Given the description of an element on the screen output the (x, y) to click on. 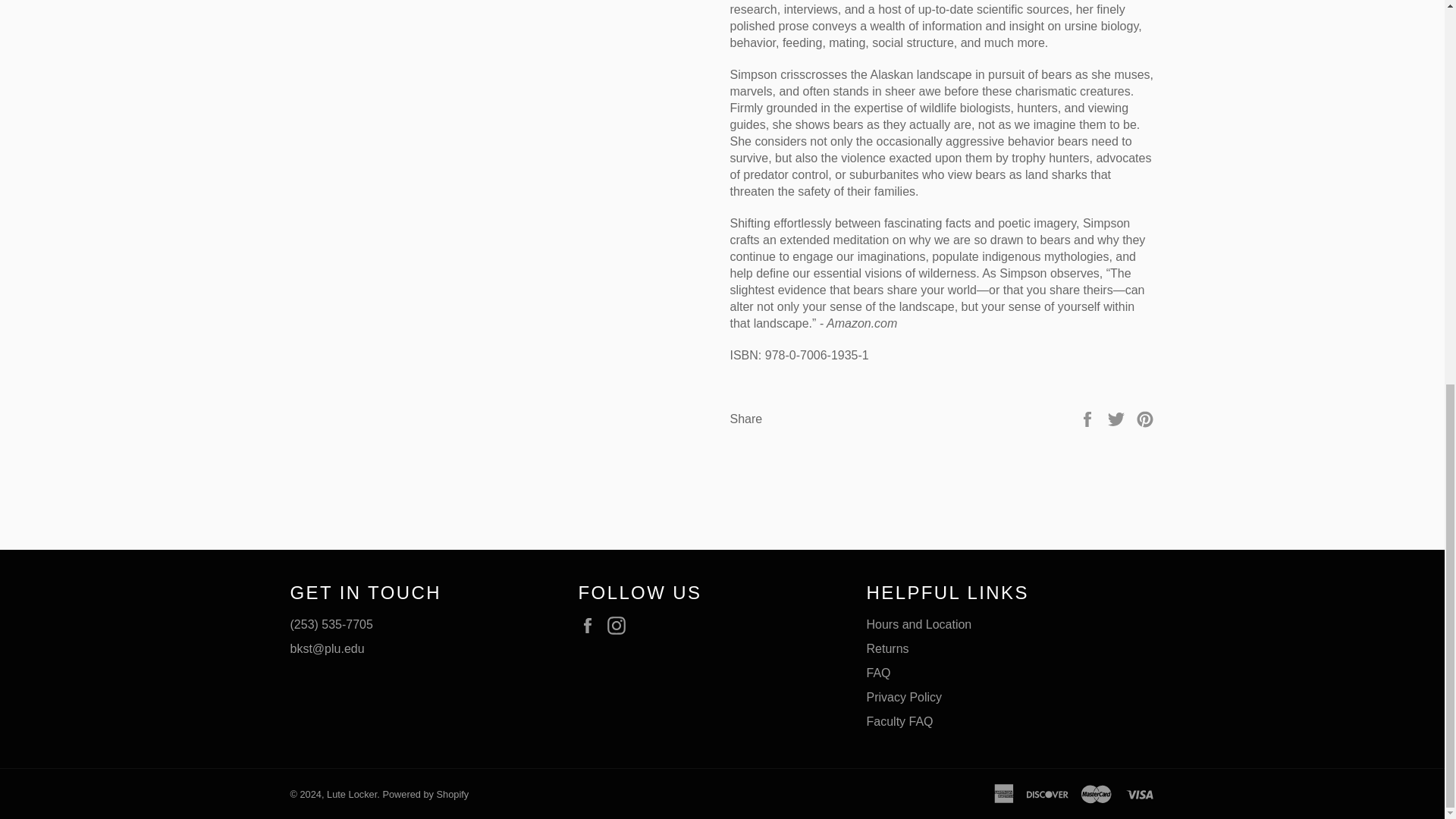
Lute Locker on Instagram (620, 625)
Lute Locker on Facebook (591, 625)
Share on Facebook (1088, 418)
Pin on Pinterest (1144, 418)
Tweet on Twitter (1117, 418)
